Given the description of an element on the screen output the (x, y) to click on. 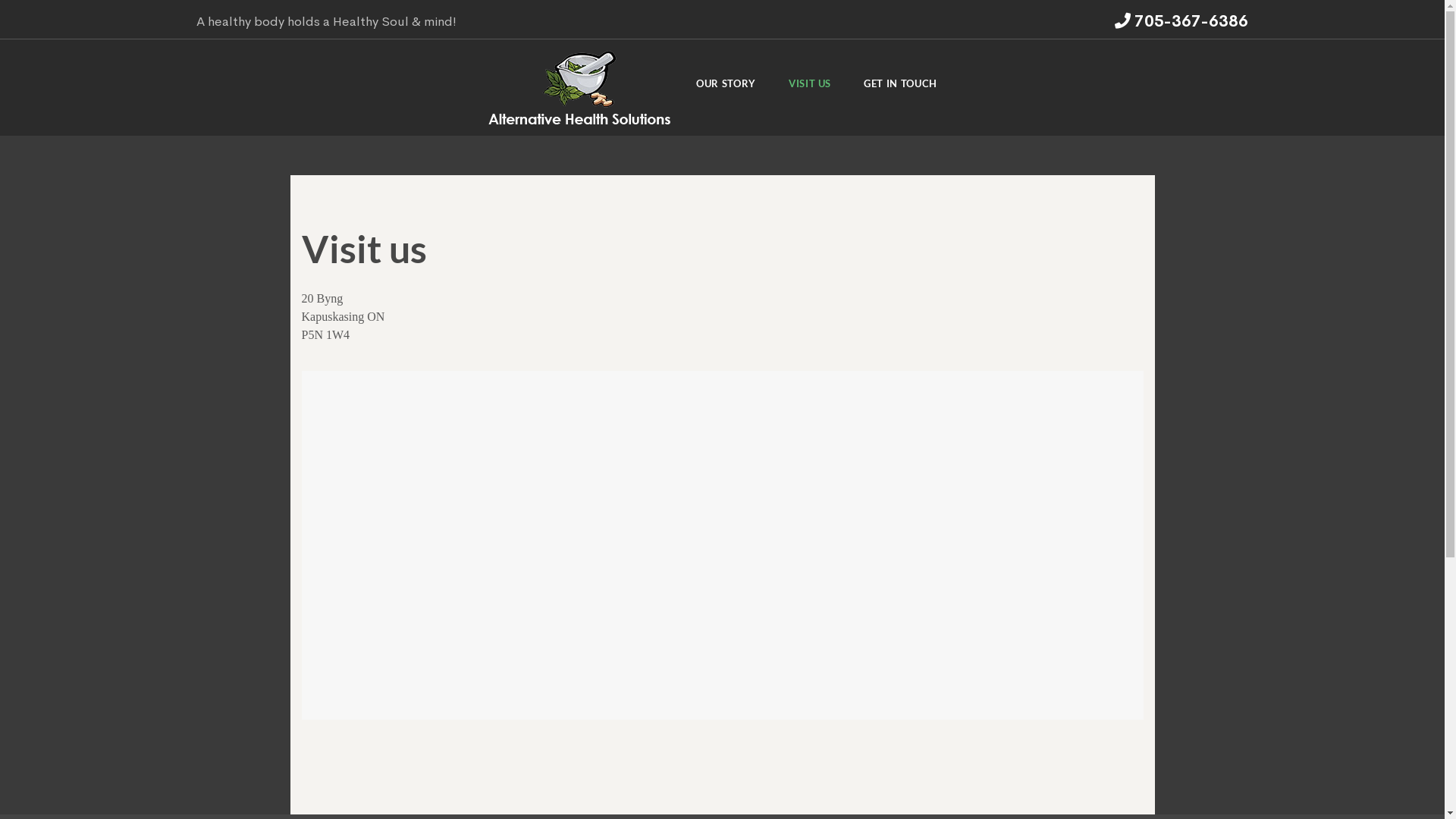
GET IN TOUCH Element type: text (900, 87)
Alternative Health Solutions Element type: hover (578, 87)
OUR STORY Element type: text (725, 87)
VISIT US Element type: text (809, 87)
